Given the description of an element on the screen output the (x, y) to click on. 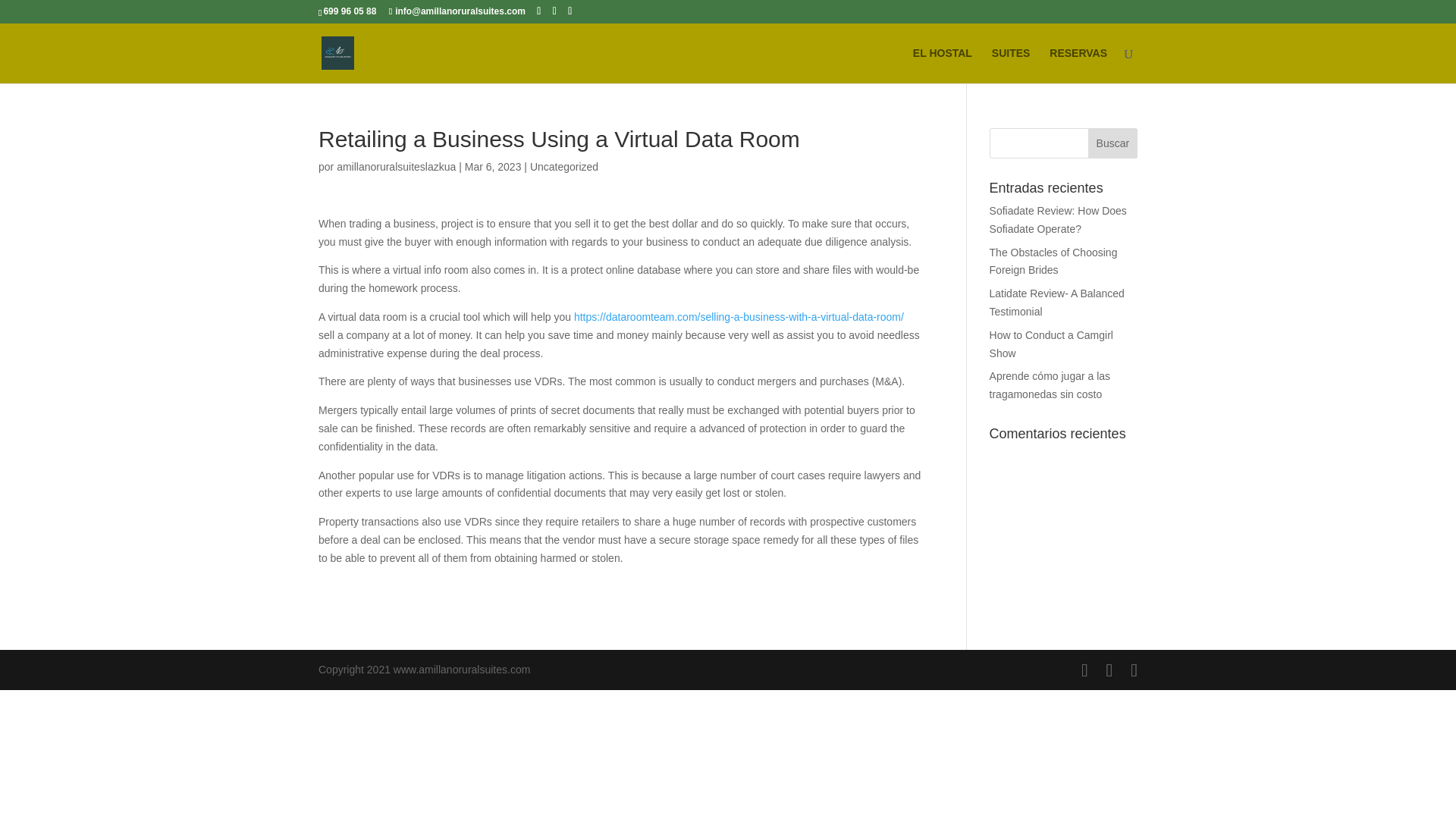
Sofiadate Review: How Does Sofiadate Operate? (1058, 219)
Mensajes de amillanoruralsuiteslazkua (395, 166)
Uncategorized (563, 166)
Latidate Review- A Balanced Testimonial (1057, 302)
SUITES (1010, 65)
The Obstacles of Choosing Foreign Brides (1054, 261)
RESERVAS (1077, 65)
Buscar (1112, 142)
amillanoruralsuiteslazkua (395, 166)
Buscar (1112, 142)
